Given the description of an element on the screen output the (x, y) to click on. 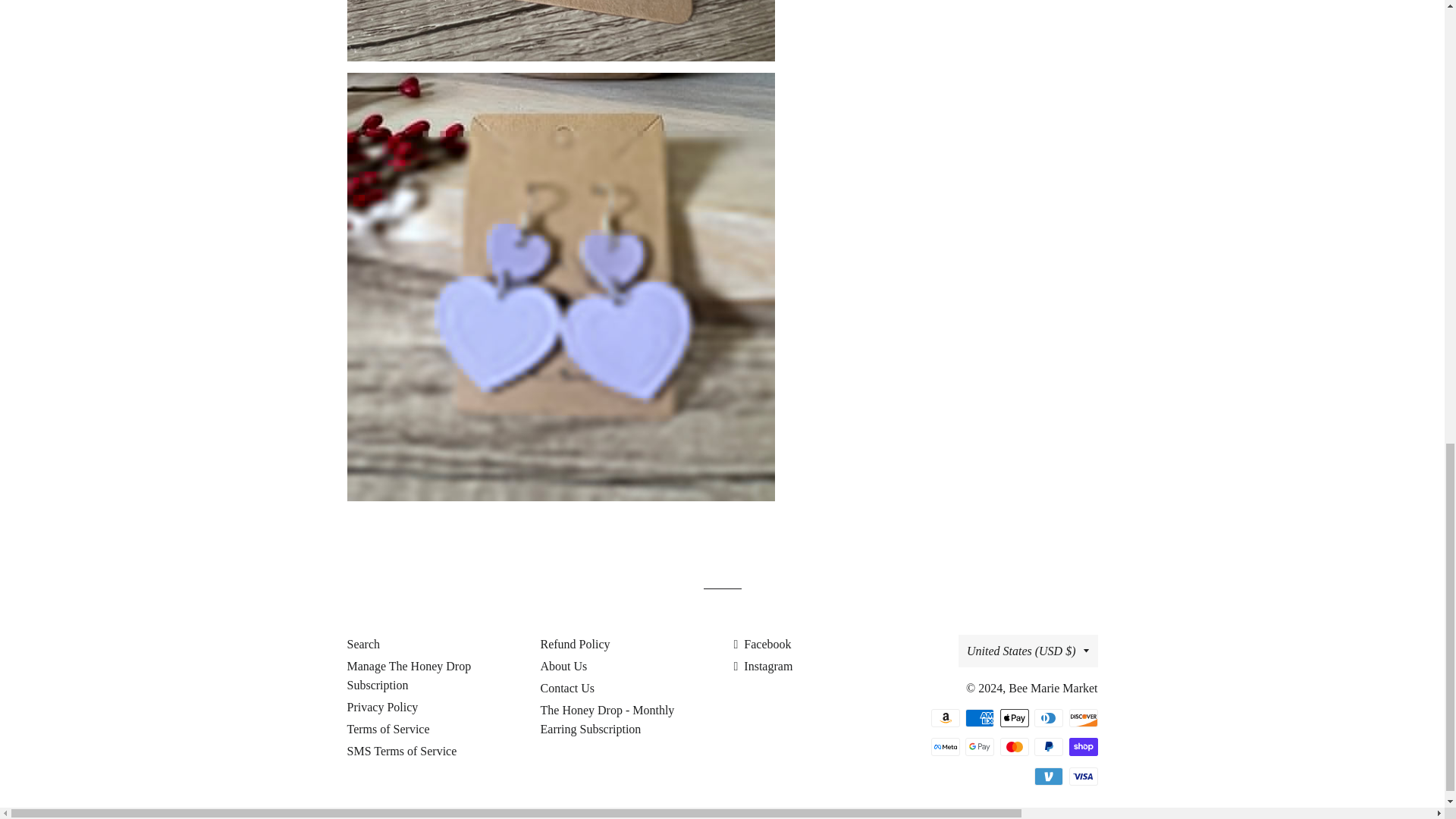
Google Pay (979, 746)
Shop Pay (1082, 746)
Bee Marie Market on Facebook (762, 644)
Discover (1082, 718)
Diners Club (1047, 718)
Bee Marie Market on Instagram (763, 666)
Visa (1082, 776)
Venmo (1047, 776)
PayPal (1047, 746)
Meta Pay (945, 746)
Apple Pay (1012, 718)
American Express (979, 718)
Amazon (945, 718)
Mastercard (1012, 746)
